Given the description of an element on the screen output the (x, y) to click on. 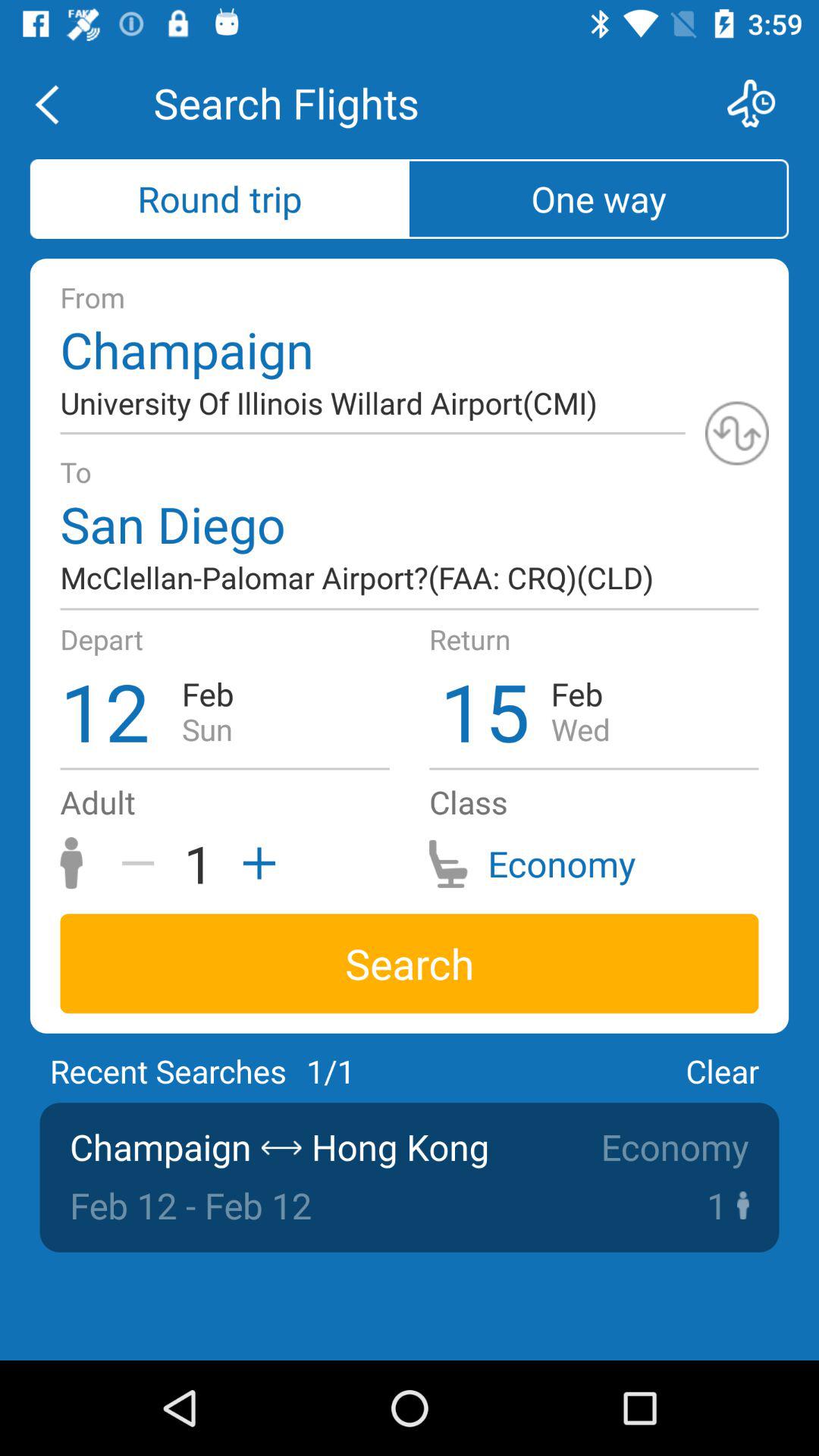
turn off item next to the 1 icon (254, 863)
